Given the description of an element on the screen output the (x, y) to click on. 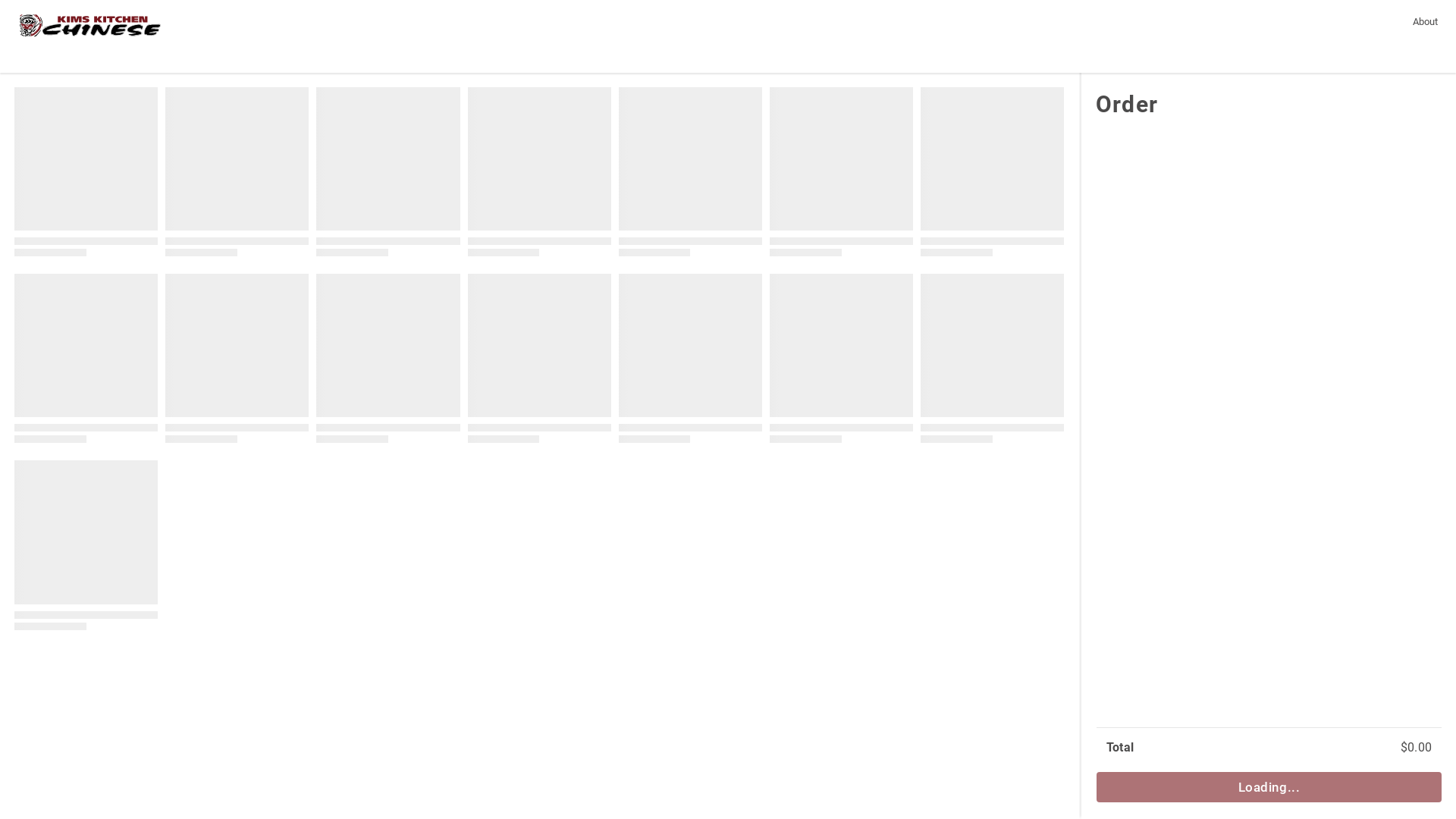
About Element type: text (1424, 21)
